Given the description of an element on the screen output the (x, y) to click on. 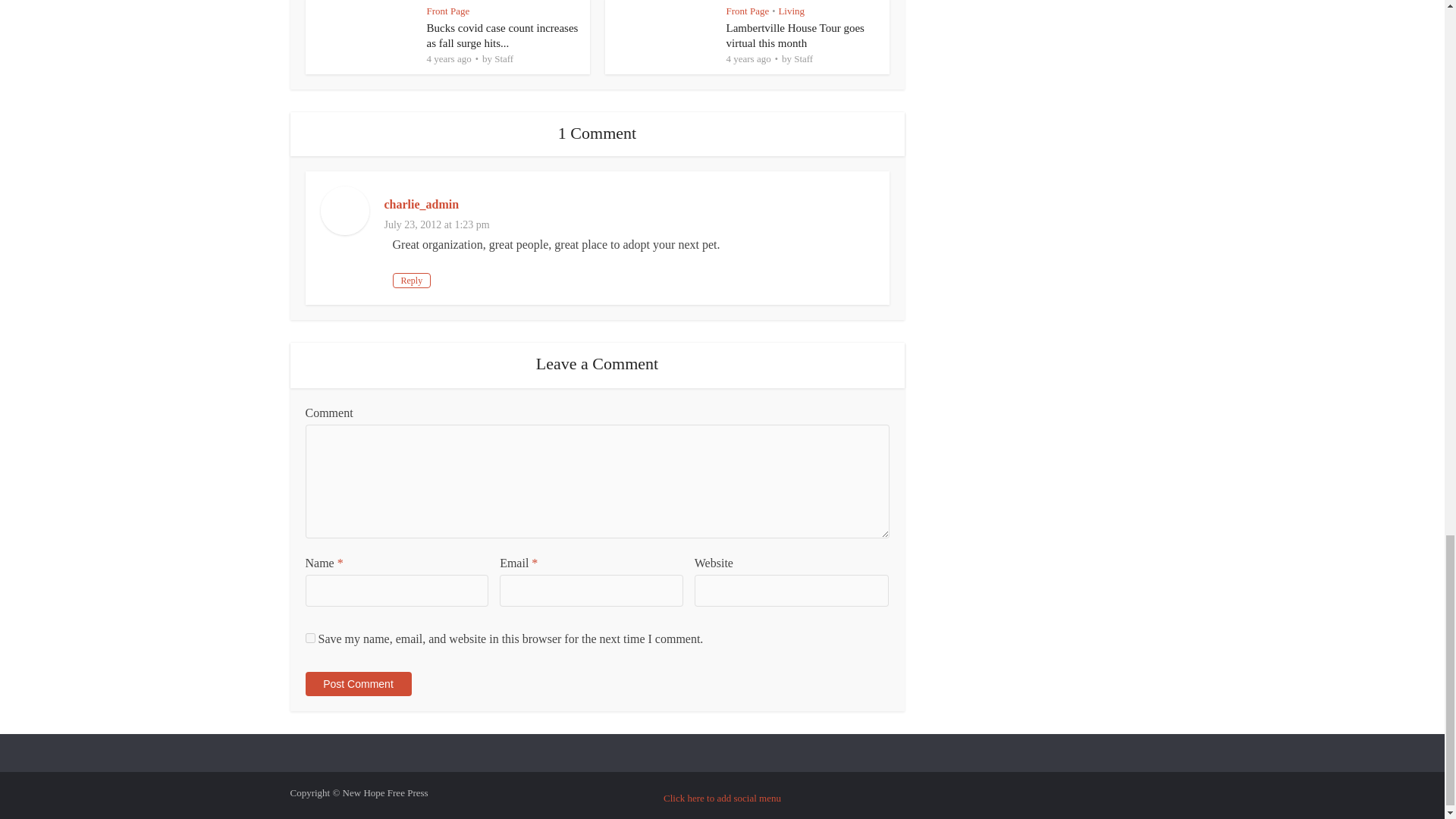
yes (309, 637)
Post Comment (357, 683)
Lambertville House Tour goes virtual this month (795, 35)
